Given the description of an element on the screen output the (x, y) to click on. 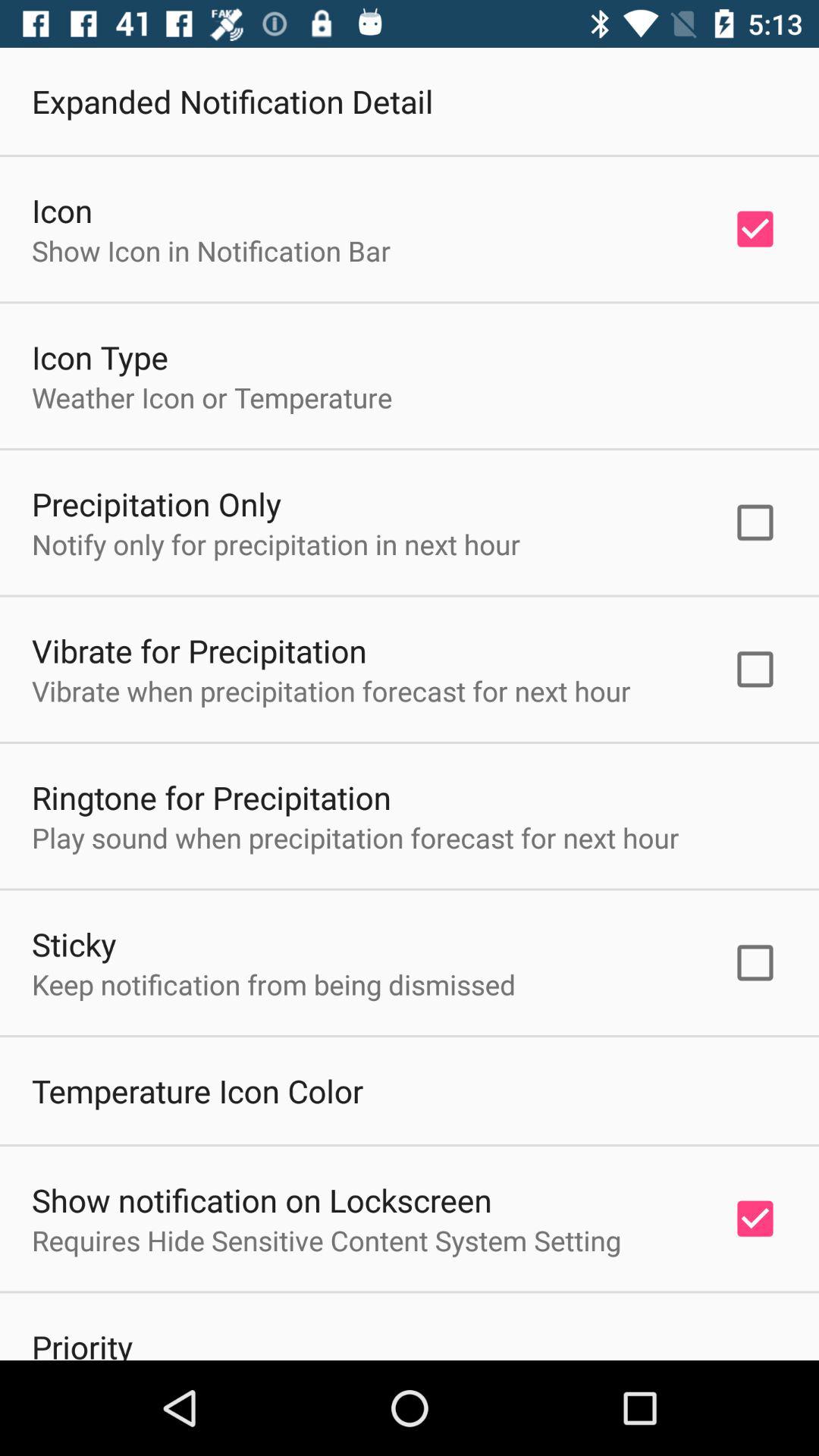
click the item above precipitation only icon (211, 397)
